Given the description of an element on the screen output the (x, y) to click on. 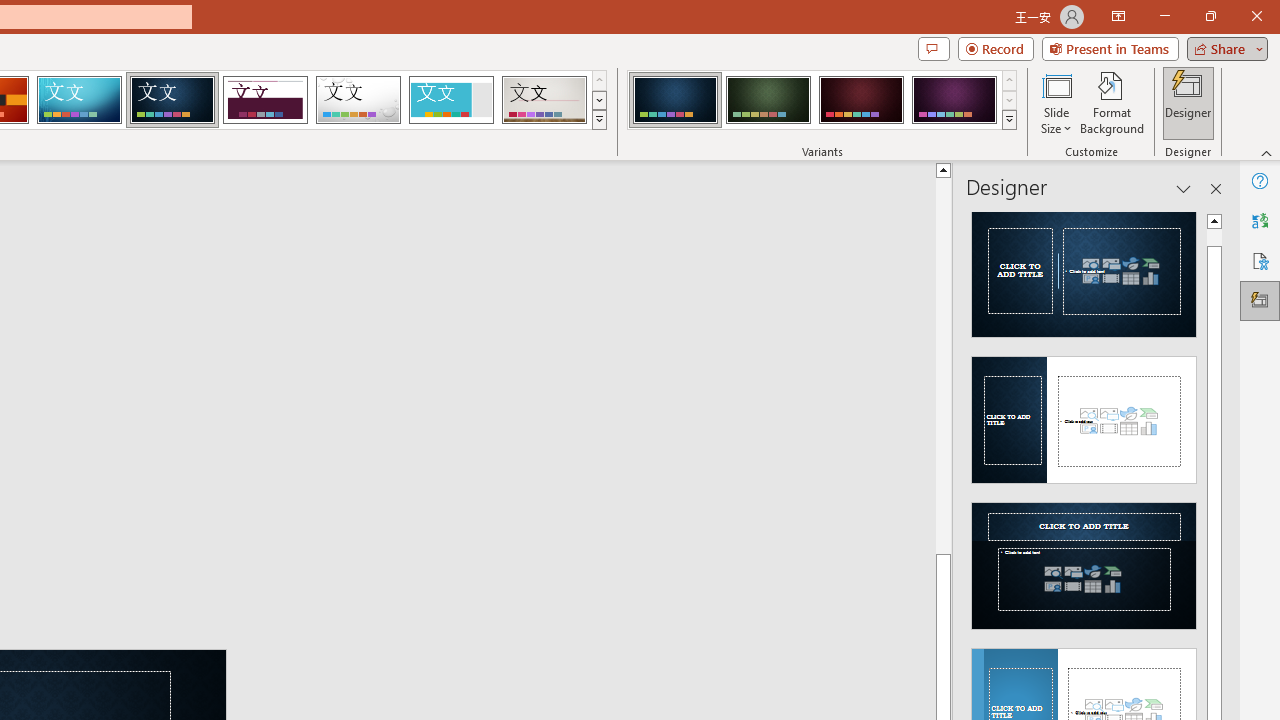
Recommended Design: Design Idea (1083, 268)
AutomationID: ThemeVariantsGallery (822, 99)
Circuit (79, 100)
Droplet (358, 100)
